Given the description of an element on the screen output the (x, y) to click on. 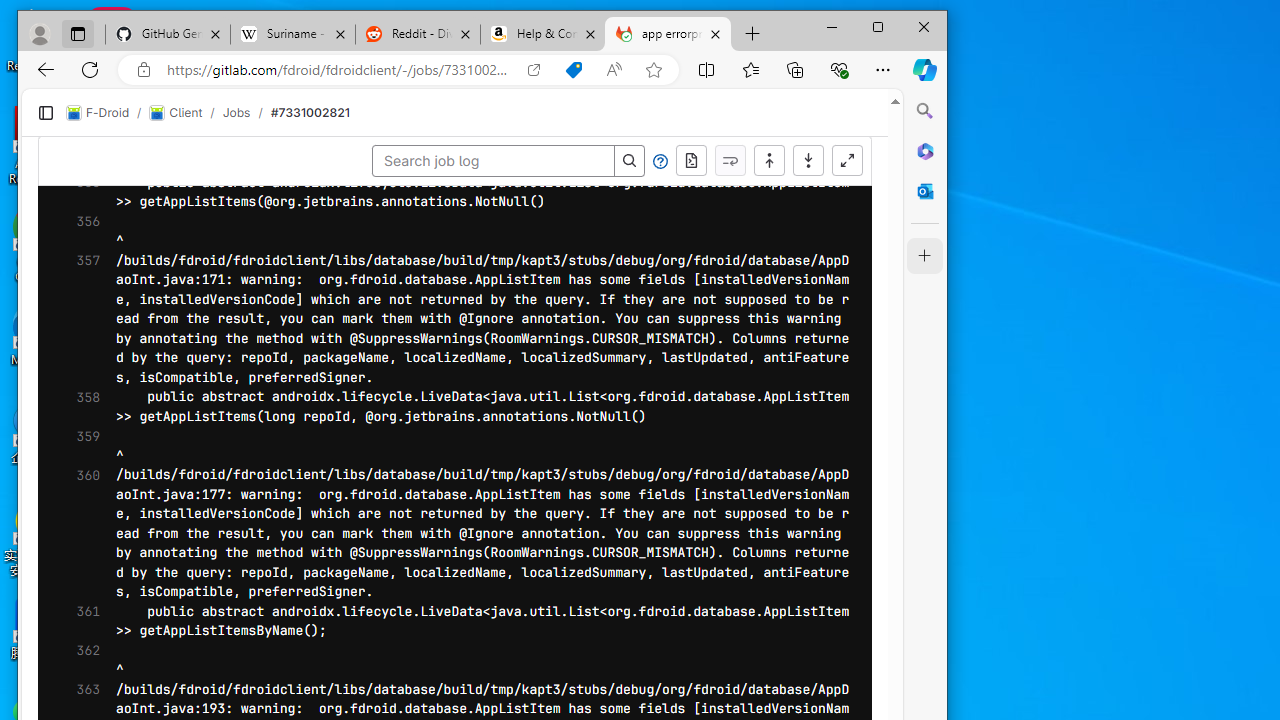
409 (73, 429)
404 (73, 332)
412 (73, 488)
405 (73, 352)
413 (73, 508)
399 (73, 235)
407 (73, 390)
422 (73, 683)
Suriname - Wikipedia (445, 17)
#7331002821 (527, 95)
419 (73, 624)
416 (73, 566)
410 (73, 449)
